Given the description of an element on the screen output the (x, y) to click on. 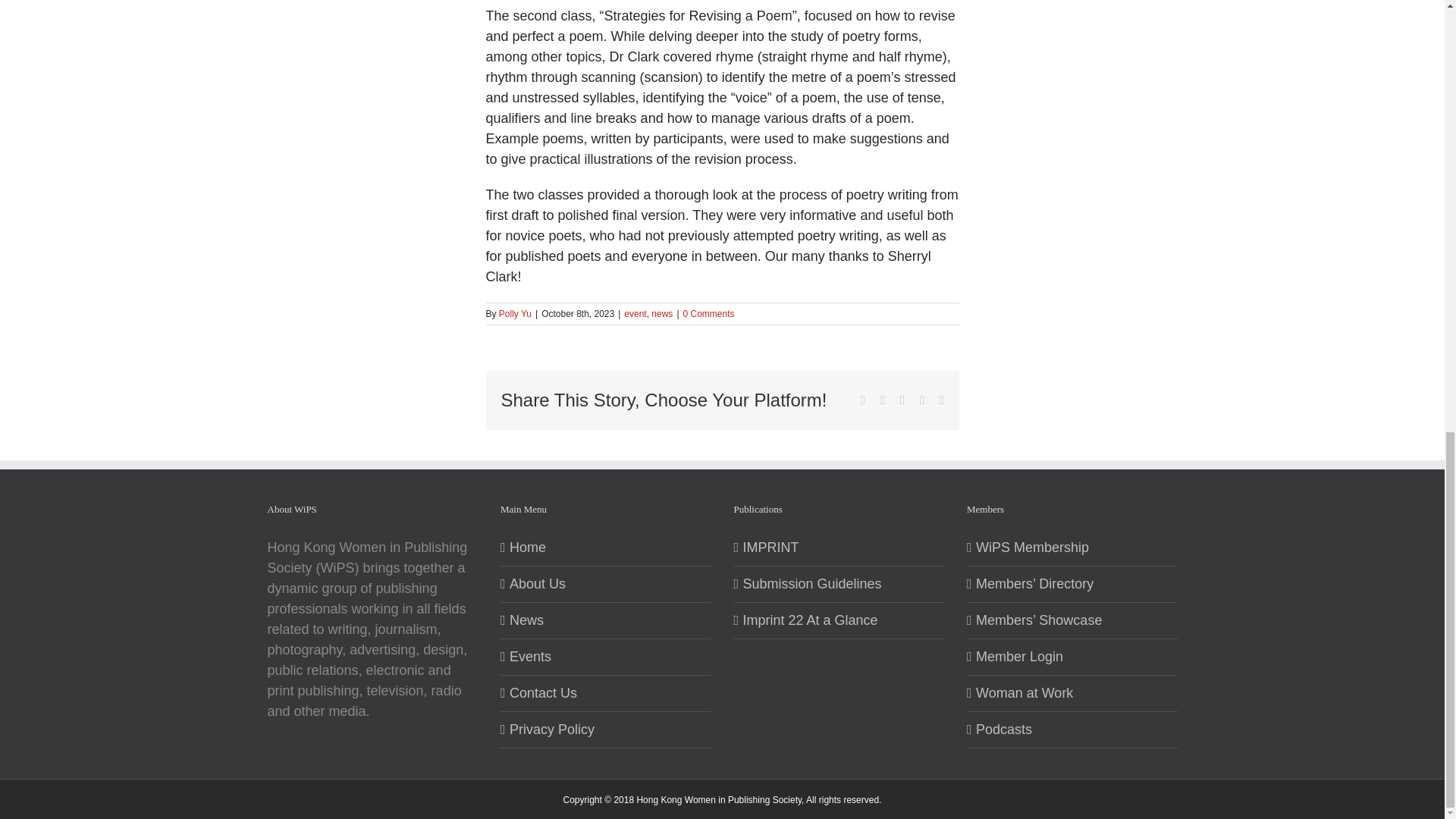
Posts by Polly Yu (515, 313)
